Given the description of an element on the screen output the (x, y) to click on. 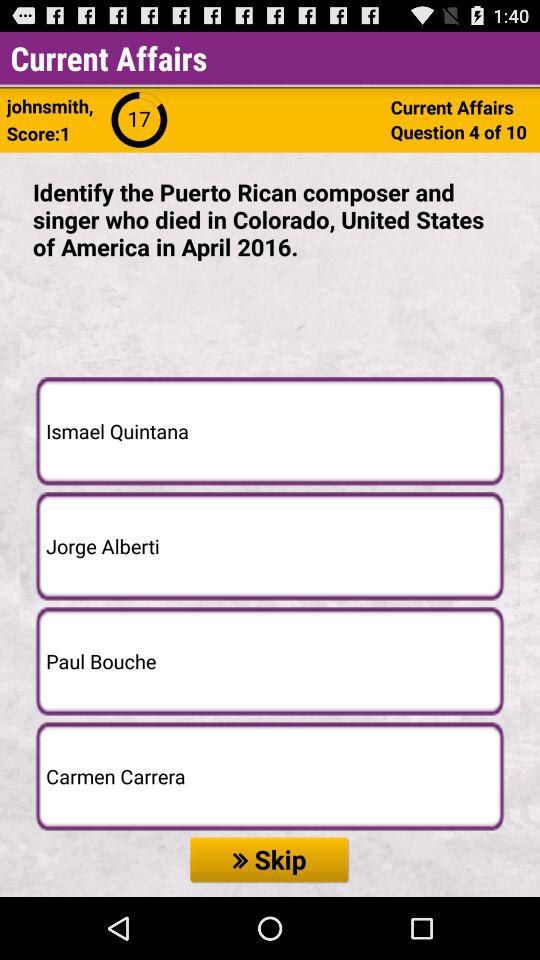
turn off icon above the carmen carrera (270, 661)
